Given the description of an element on the screen output the (x, y) to click on. 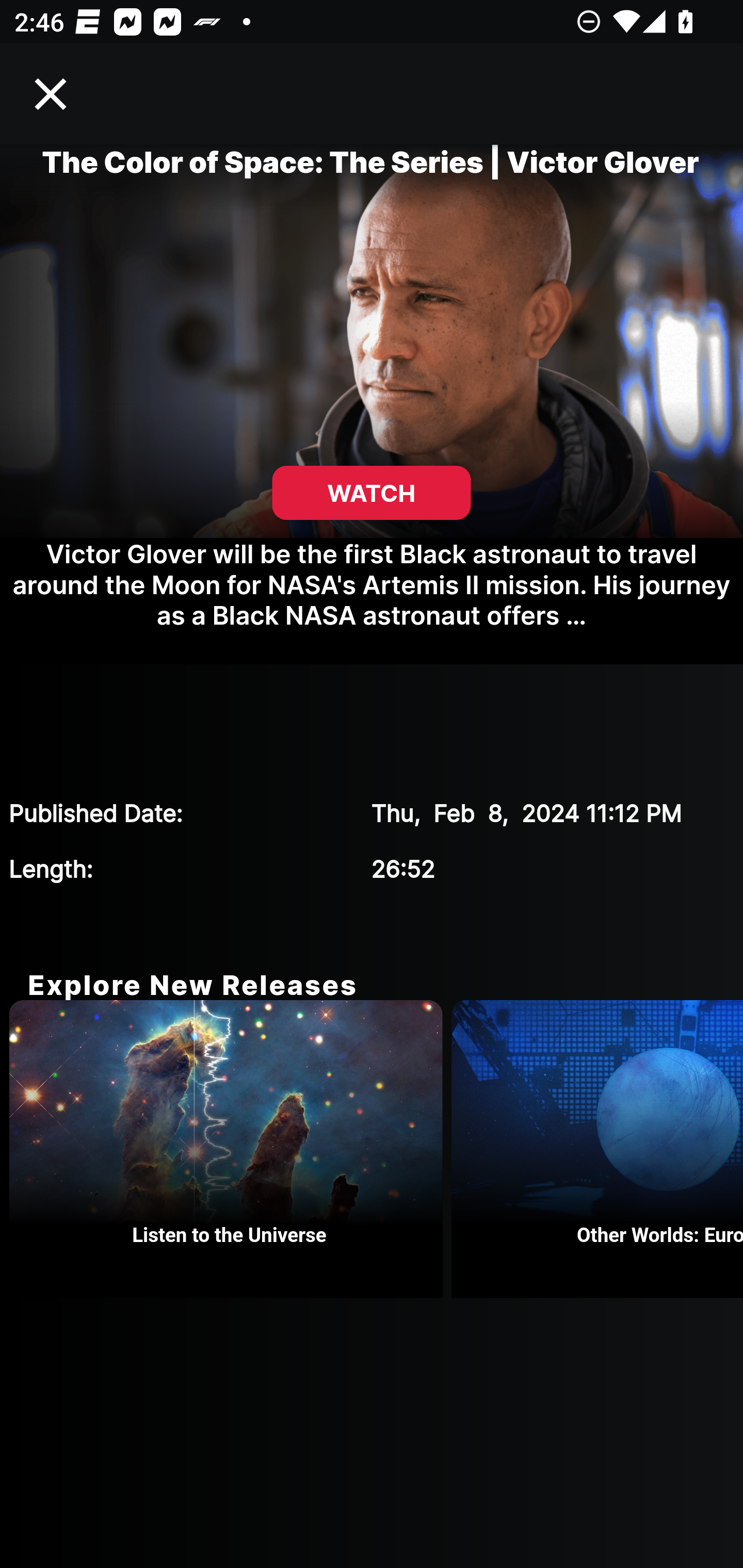
WATCH (371, 492)
Listen to the Universe (229, 1149)
Other Worlds: Europa (597, 1149)
